Given the description of an element on the screen output the (x, y) to click on. 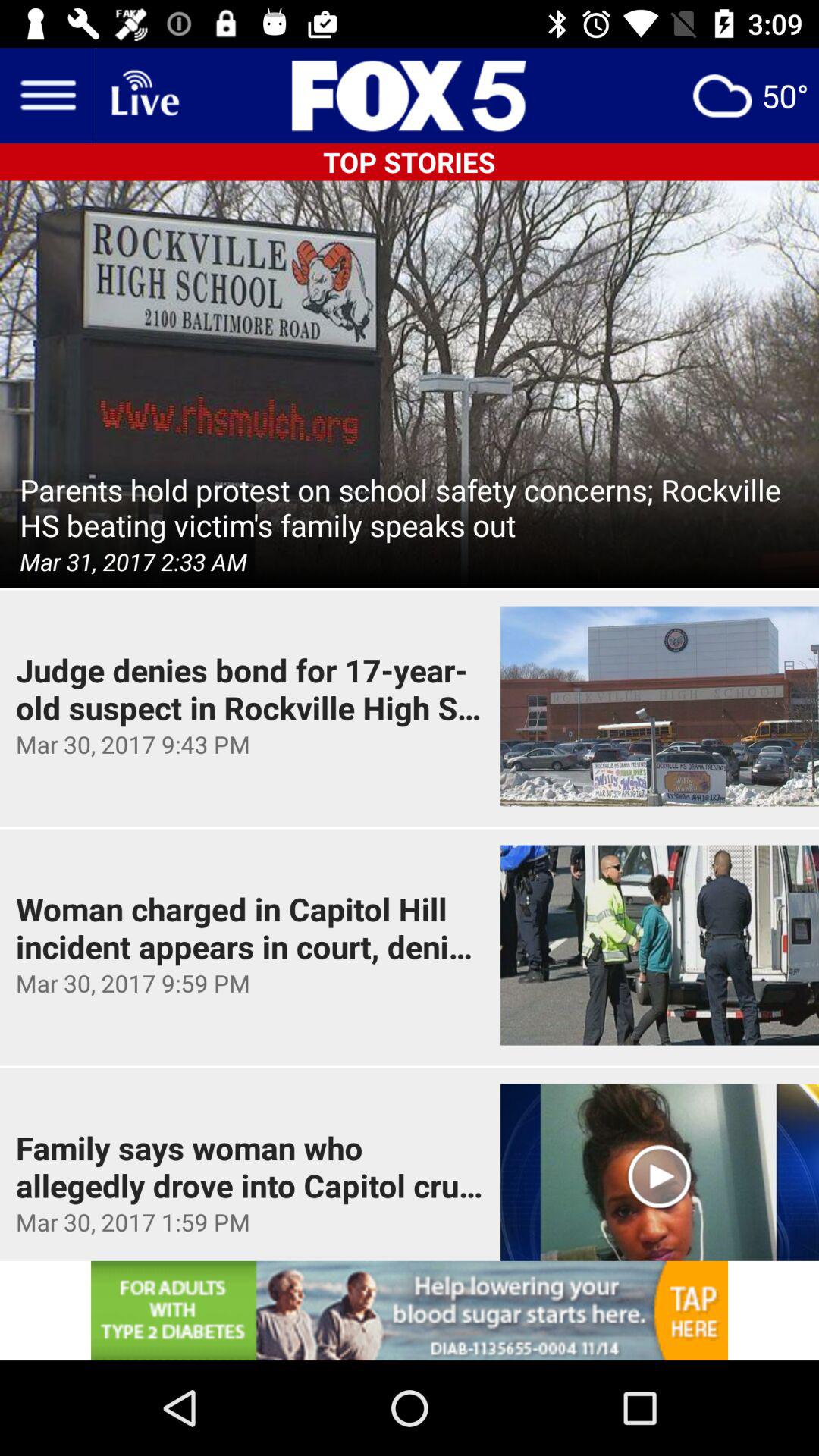
select the cloud icon on left to the text 50 degrees on the web page (722, 95)
